Given the description of an element on the screen output the (x, y) to click on. 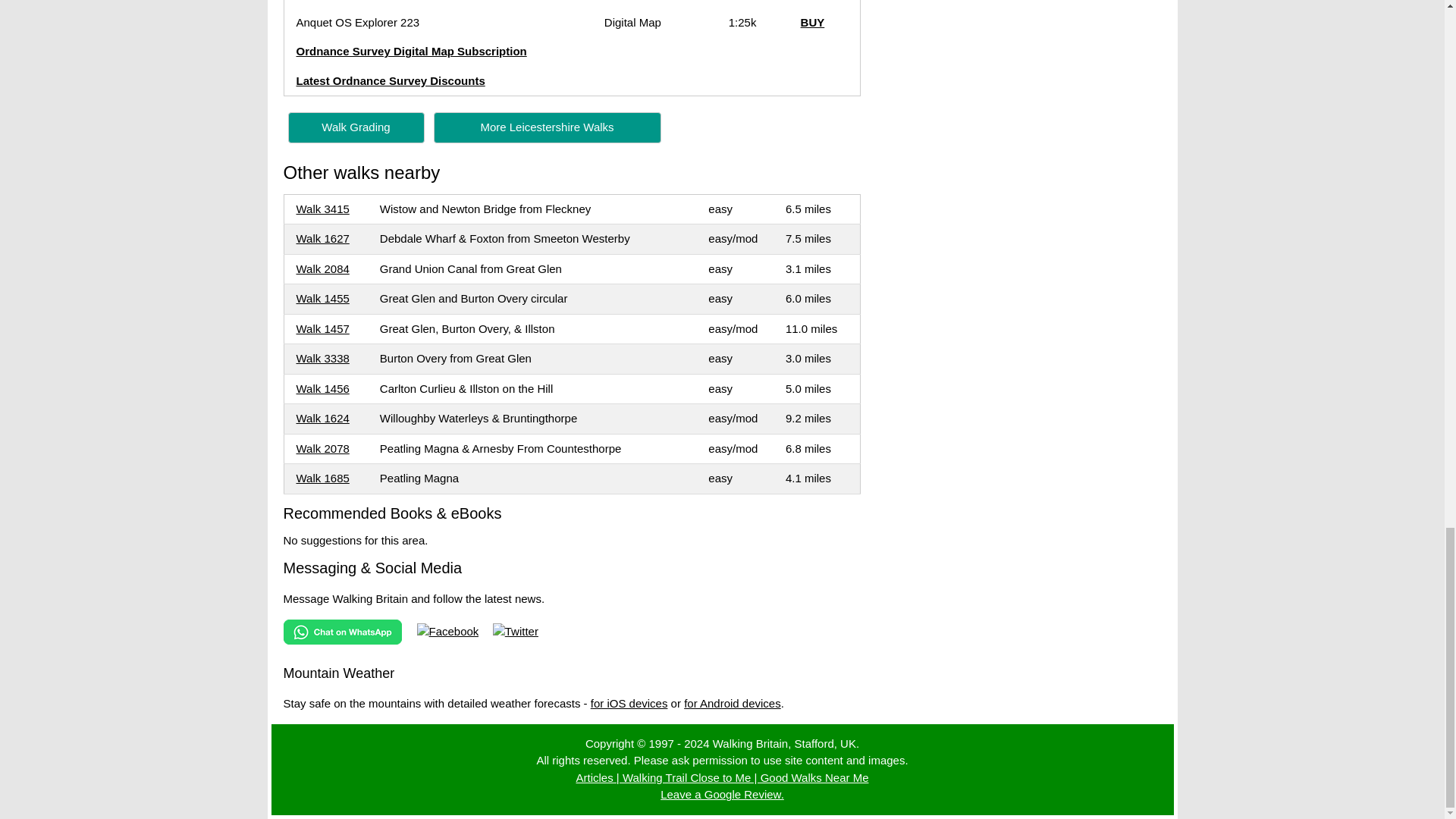
BUY (812, 21)
Latest Ordnance Survey Discounts (389, 80)
Ordnance Survey Digital Map Subscription (410, 51)
Walk Grading (356, 127)
Walk Grading (356, 125)
